Given the description of an element on the screen output the (x, y) to click on. 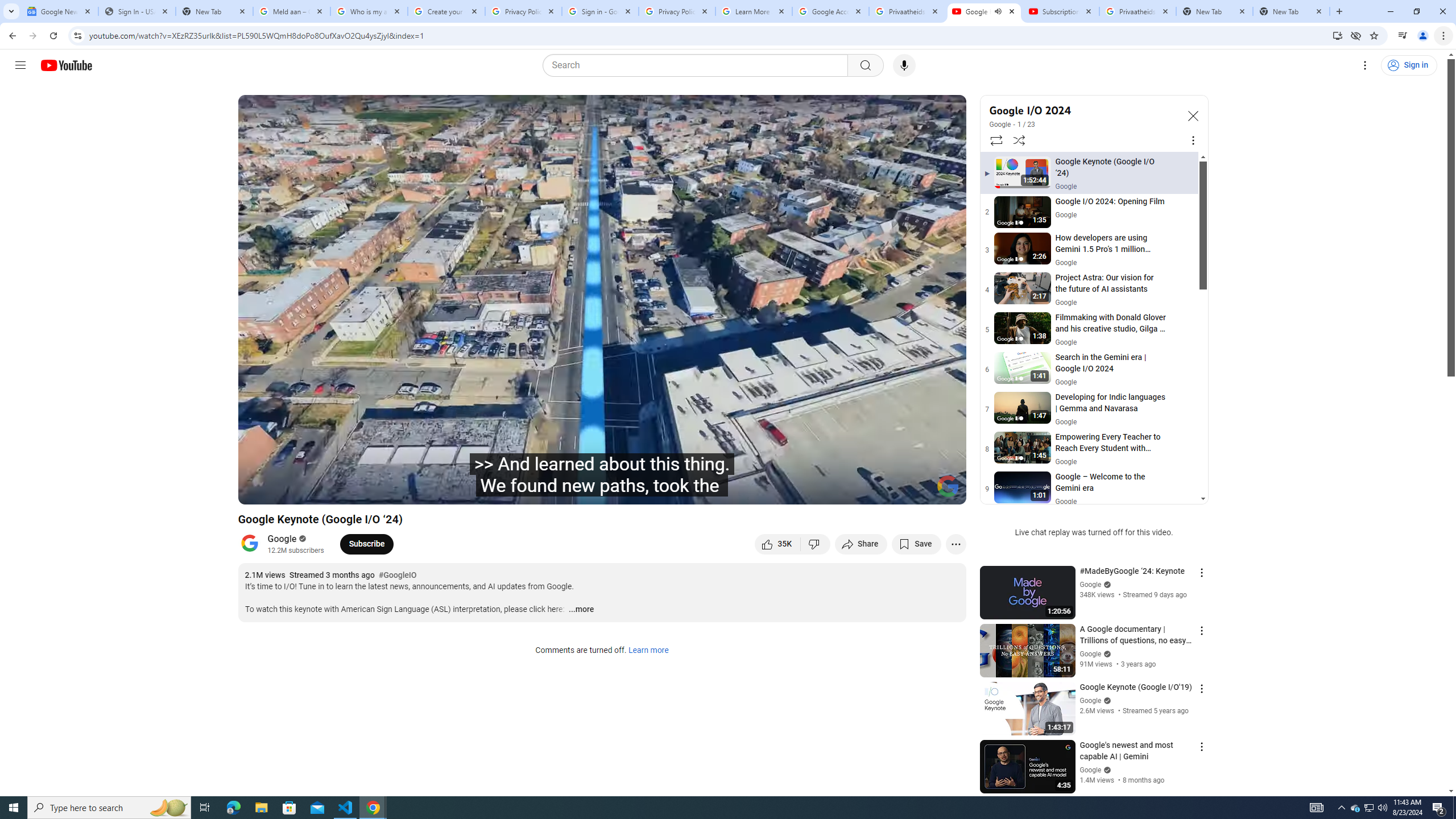
Next (SHIFT+n) (310, 490)
Channel watermark (947, 486)
Subtitles/closed captions unavailable (836, 490)
Who is my administrator? - Google Account Help (368, 11)
Create your Google Account (446, 11)
Seek slider (601, 476)
More actions (955, 543)
